Given the description of an element on the screen output the (x, y) to click on. 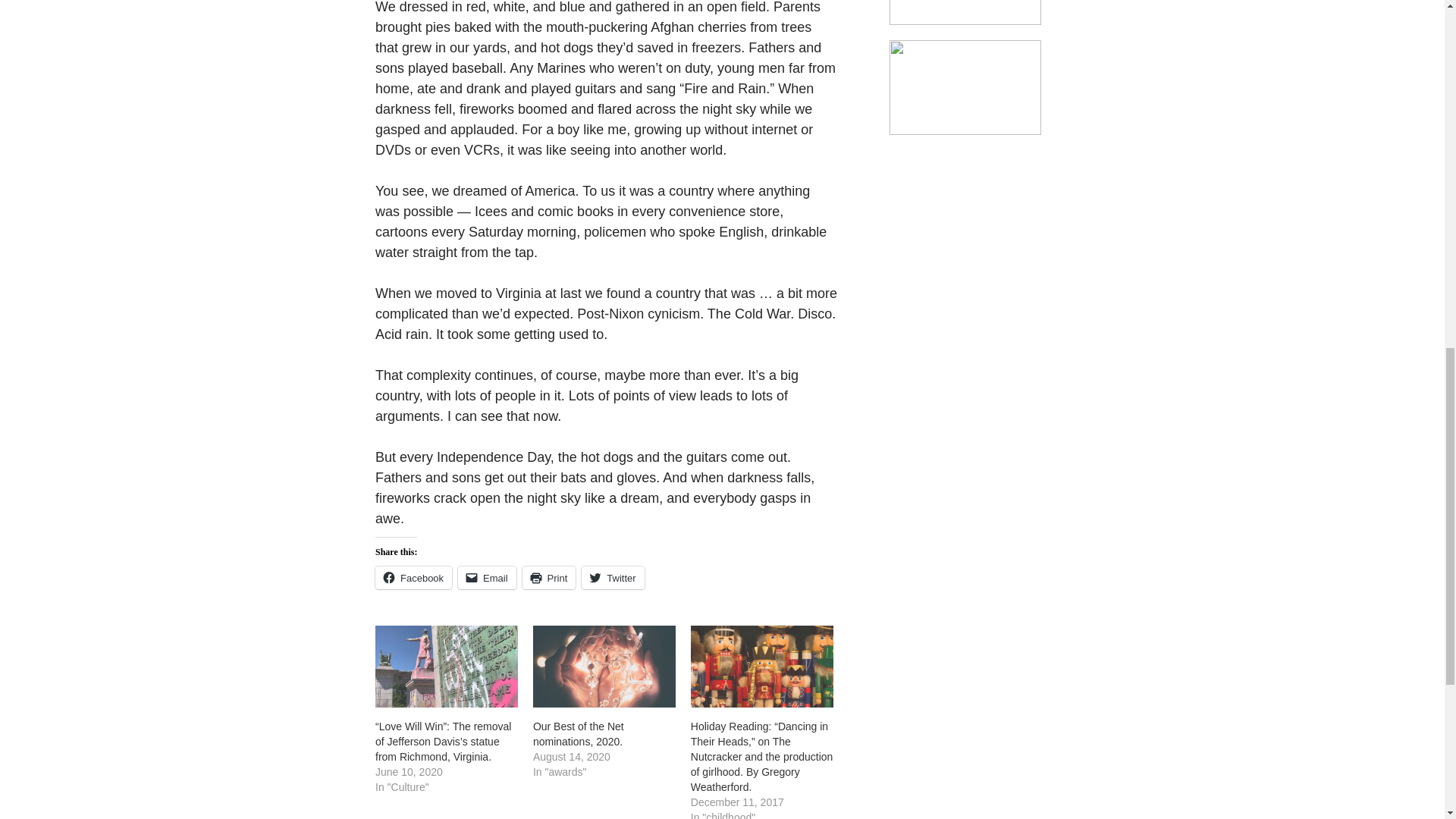
Twitter (611, 577)
Facebook (413, 577)
Print (549, 577)
Click to share on Twitter (611, 577)
Click to share on Facebook (413, 577)
Click to print (549, 577)
Click to email a link to a friend (487, 577)
Our Best of the Net nominations, 2020. (603, 665)
Our Best of the Net nominations, 2020. (578, 733)
Our Best of the Net nominations, 2020. (578, 733)
